Given the description of an element on the screen output the (x, y) to click on. 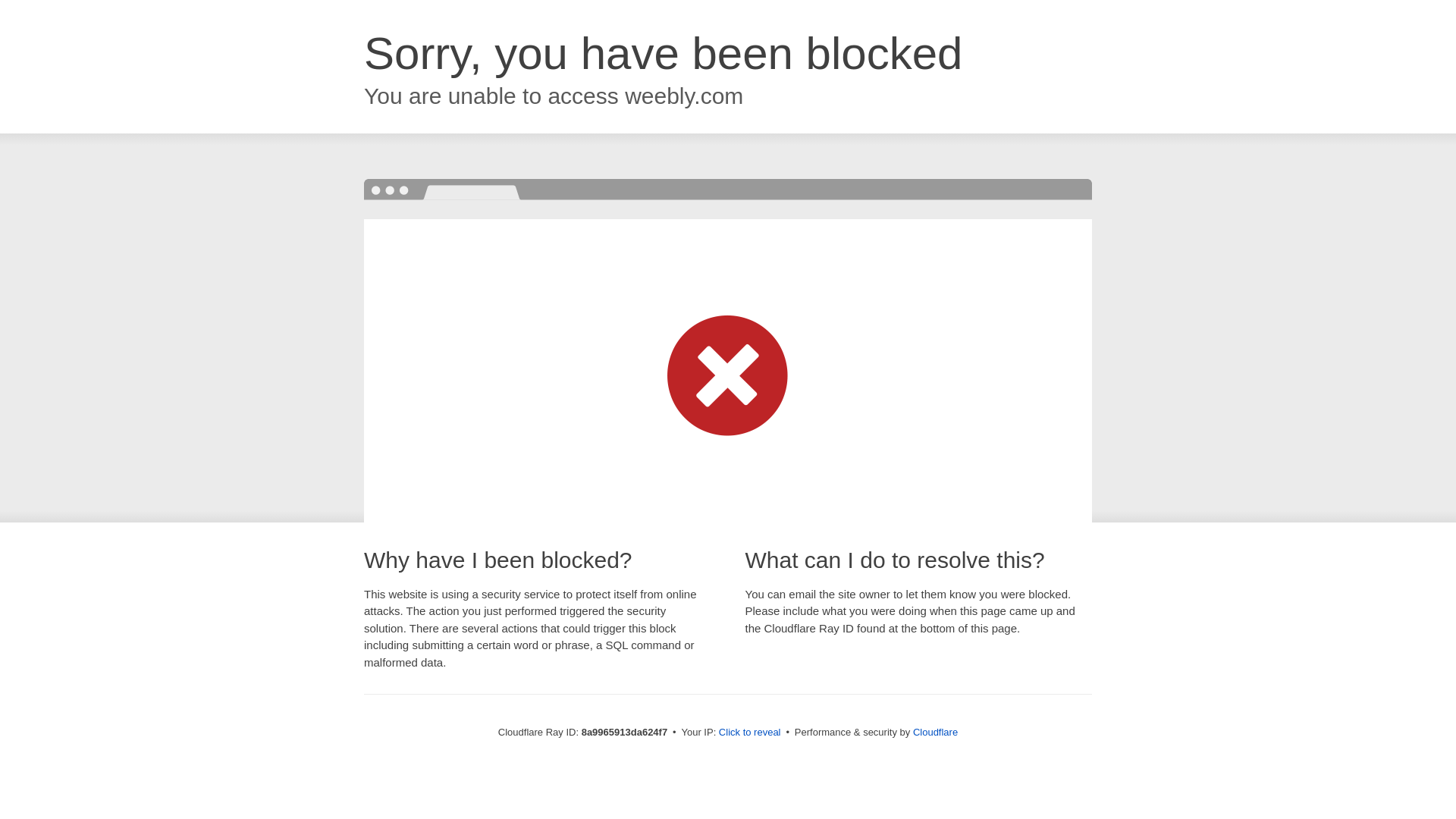
Cloudflare (935, 731)
Click to reveal (749, 732)
